Given the description of an element on the screen output the (x, y) to click on. 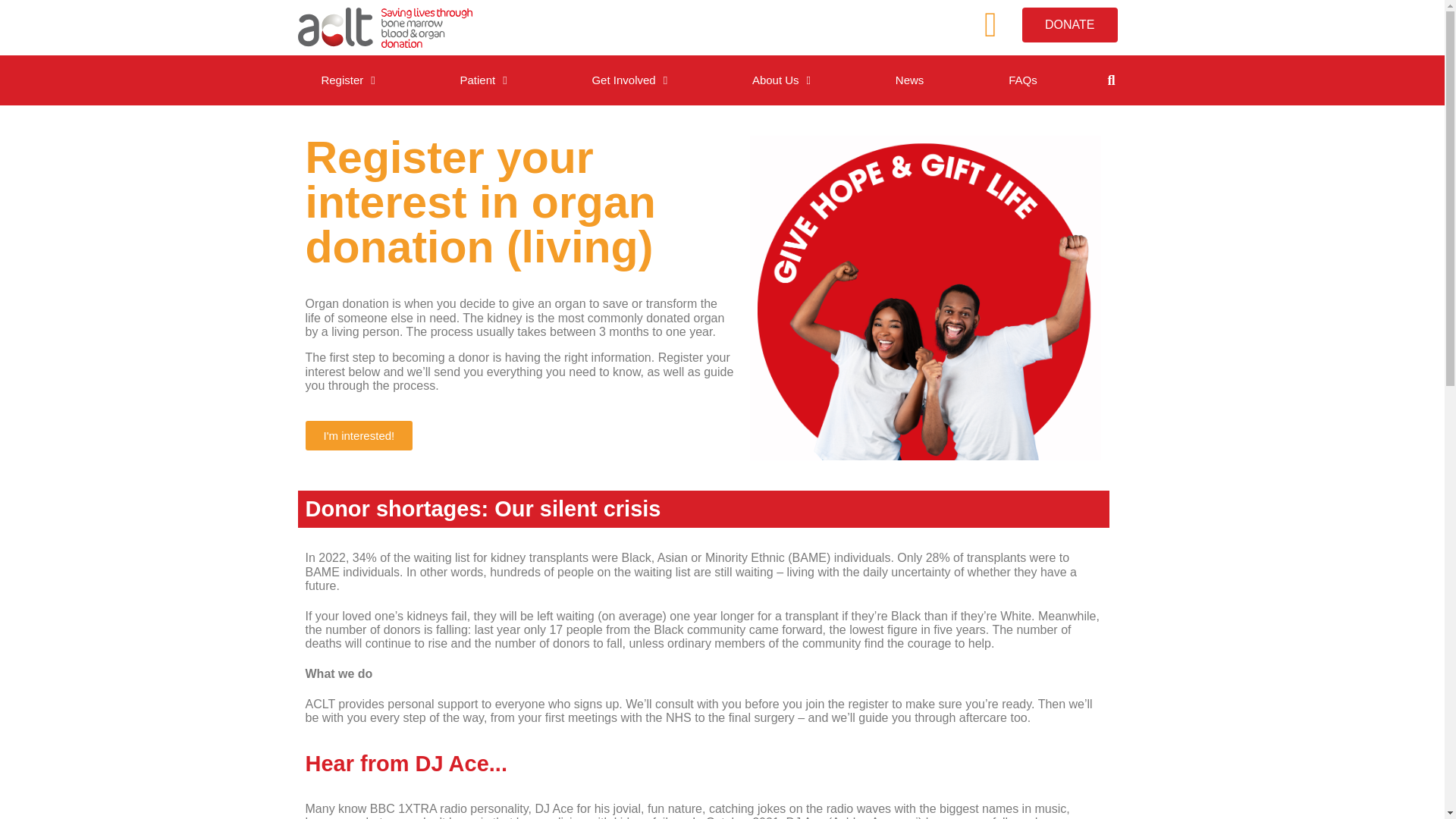
About Us (781, 80)
Get Involved (629, 80)
News (909, 80)
Patient (483, 80)
DONATE (1069, 24)
Register (347, 80)
FAQs (1022, 80)
